Given the description of an element on the screen output the (x, y) to click on. 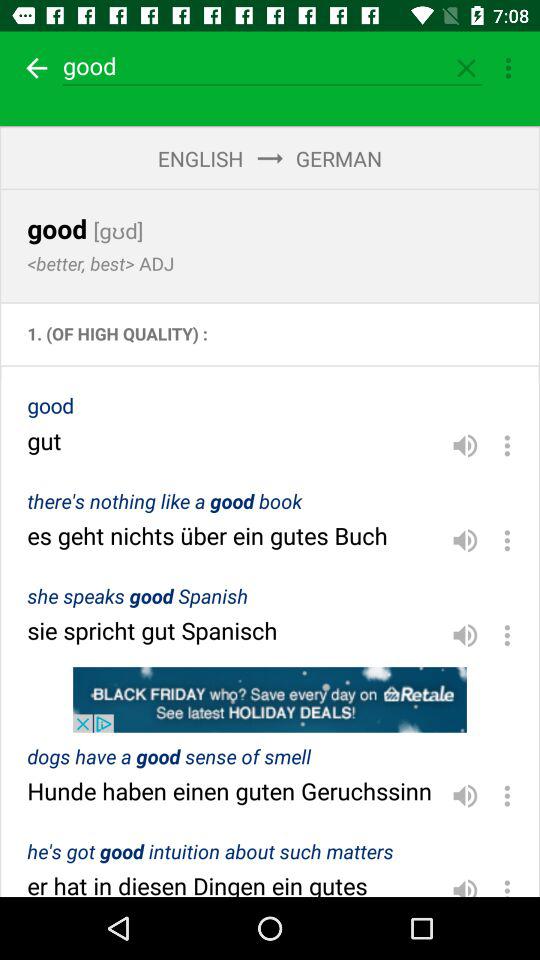
return (33, 68)
